Given the description of an element on the screen output the (x, y) to click on. 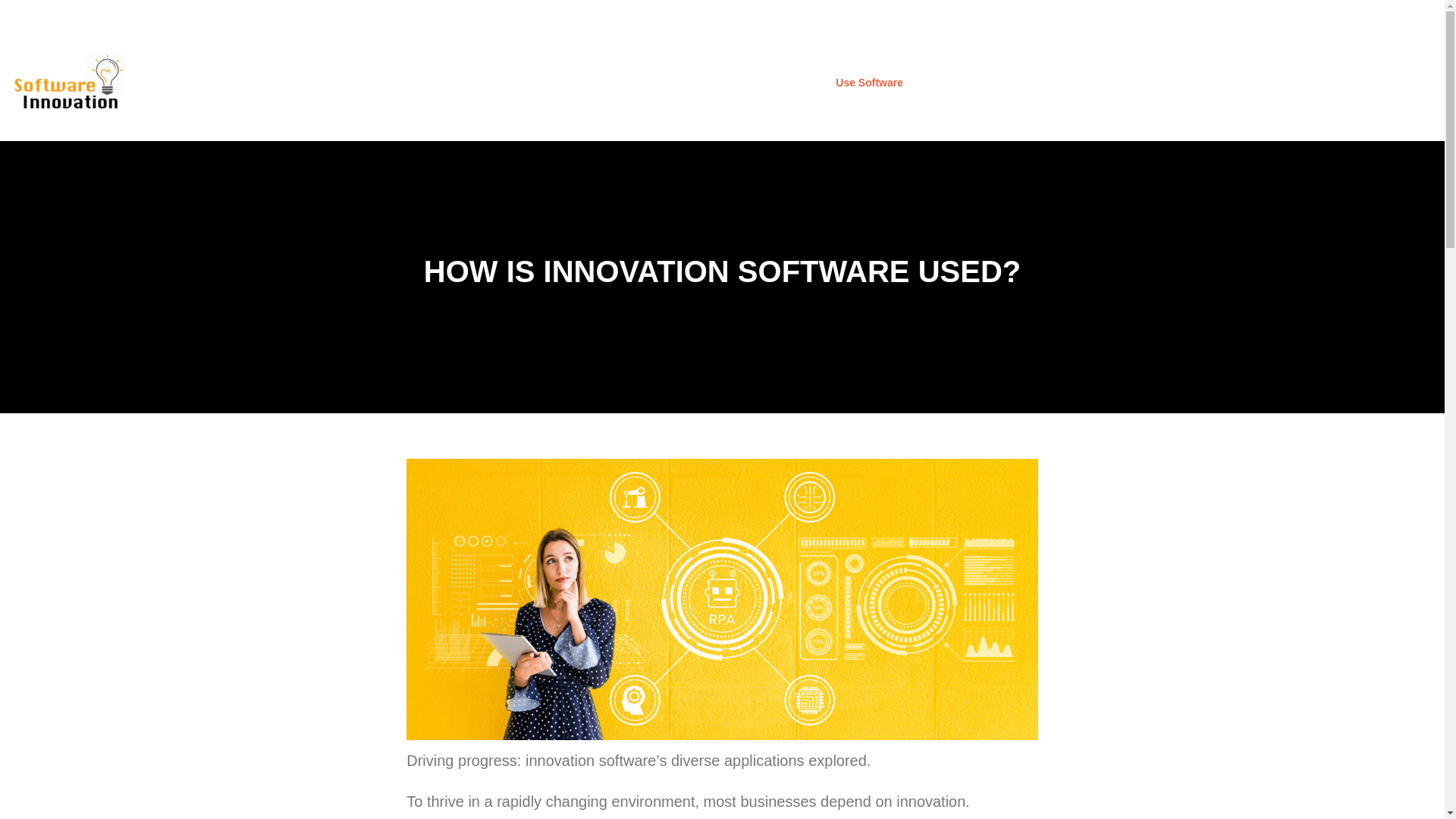
Best Innovations (382, 82)
Business Software (761, 82)
Innovations? (961, 82)
Use Software (868, 82)
Industries Leading Software Development (1119, 82)
Innovation Strategies (503, 82)
